Given the description of an element on the screen output the (x, y) to click on. 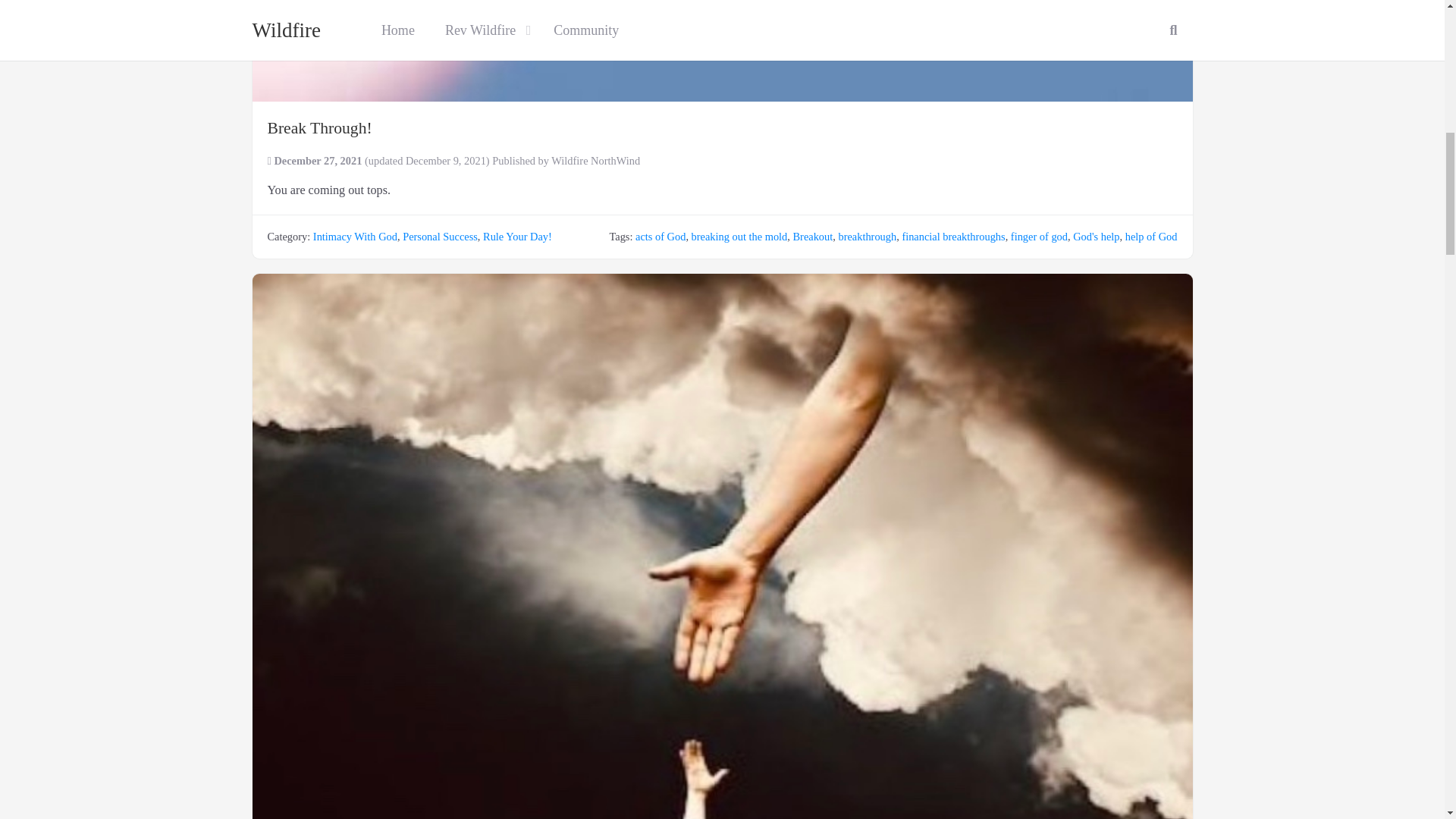
acts of God (659, 236)
Break Through! (318, 127)
finger of god (1038, 236)
breaking out the mold (739, 236)
Break Through! (721, 50)
Intimacy With God (355, 236)
financial breakthroughs (952, 236)
breakthrough (867, 236)
Personal Success (440, 236)
help of God (1151, 236)
